Given the description of an element on the screen output the (x, y) to click on. 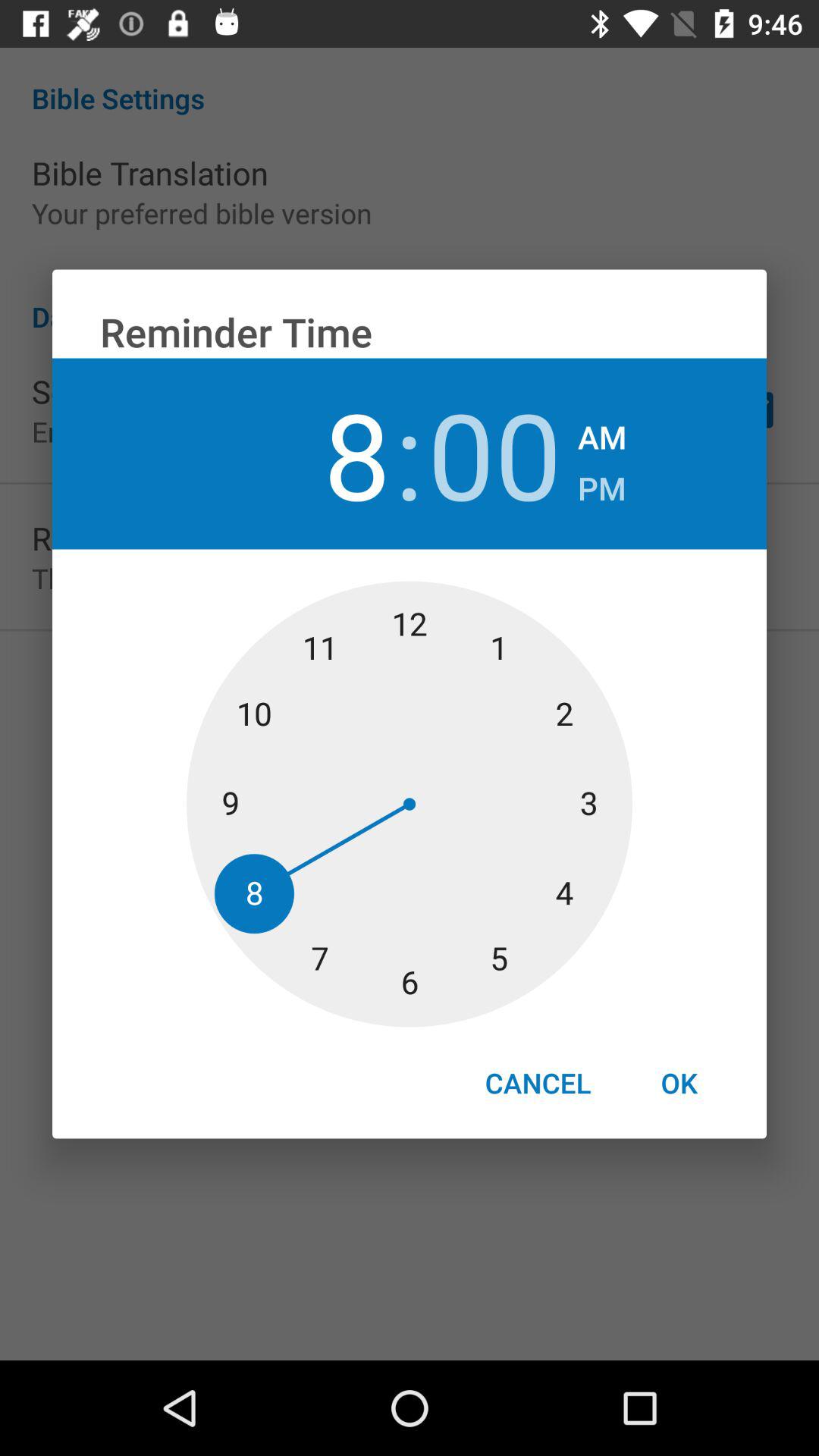
swipe to the pm item (601, 483)
